Given the description of an element on the screen output the (x, y) to click on. 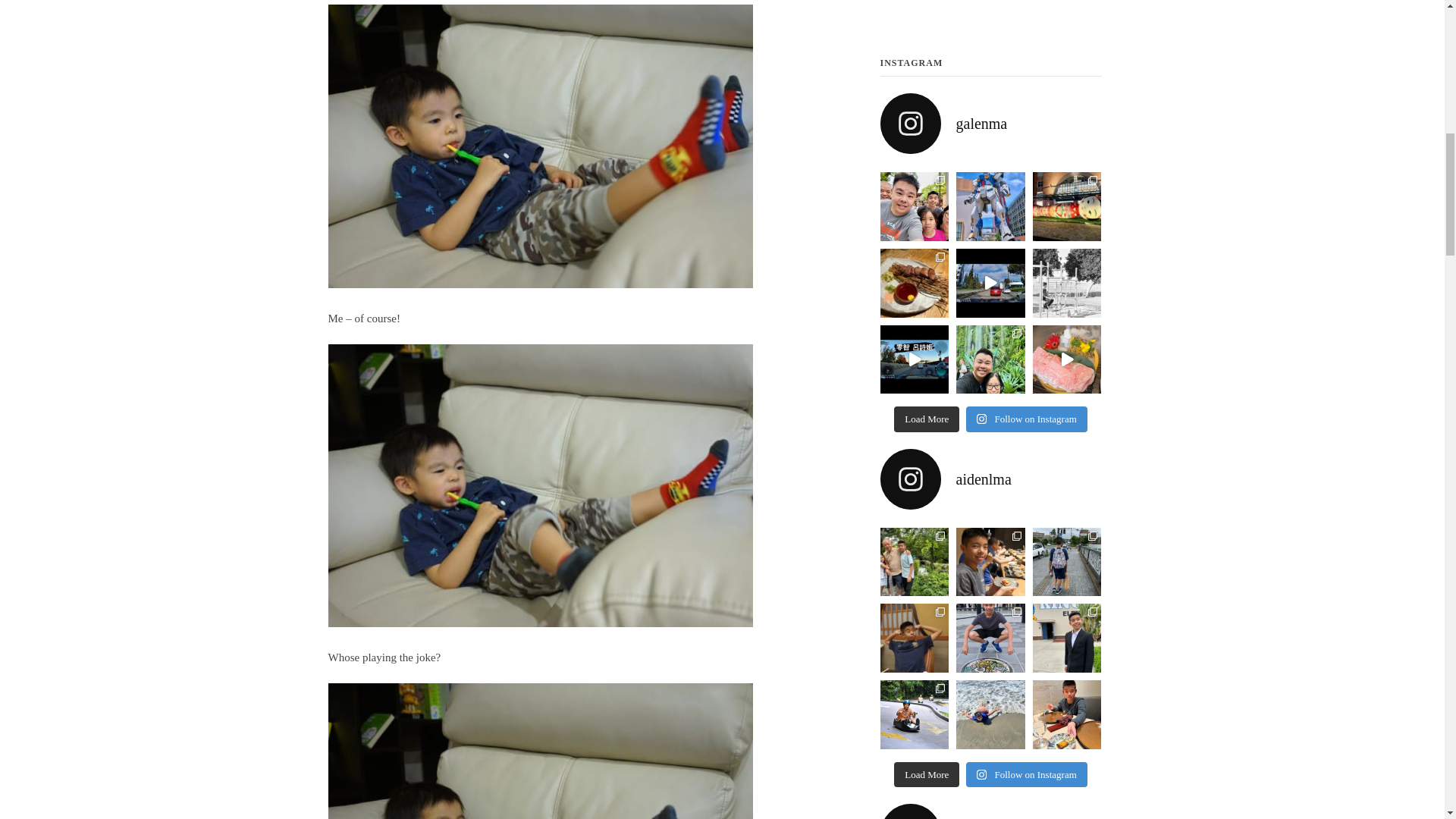
MTB (989, 7)
